Given the description of an element on the screen output the (x, y) to click on. 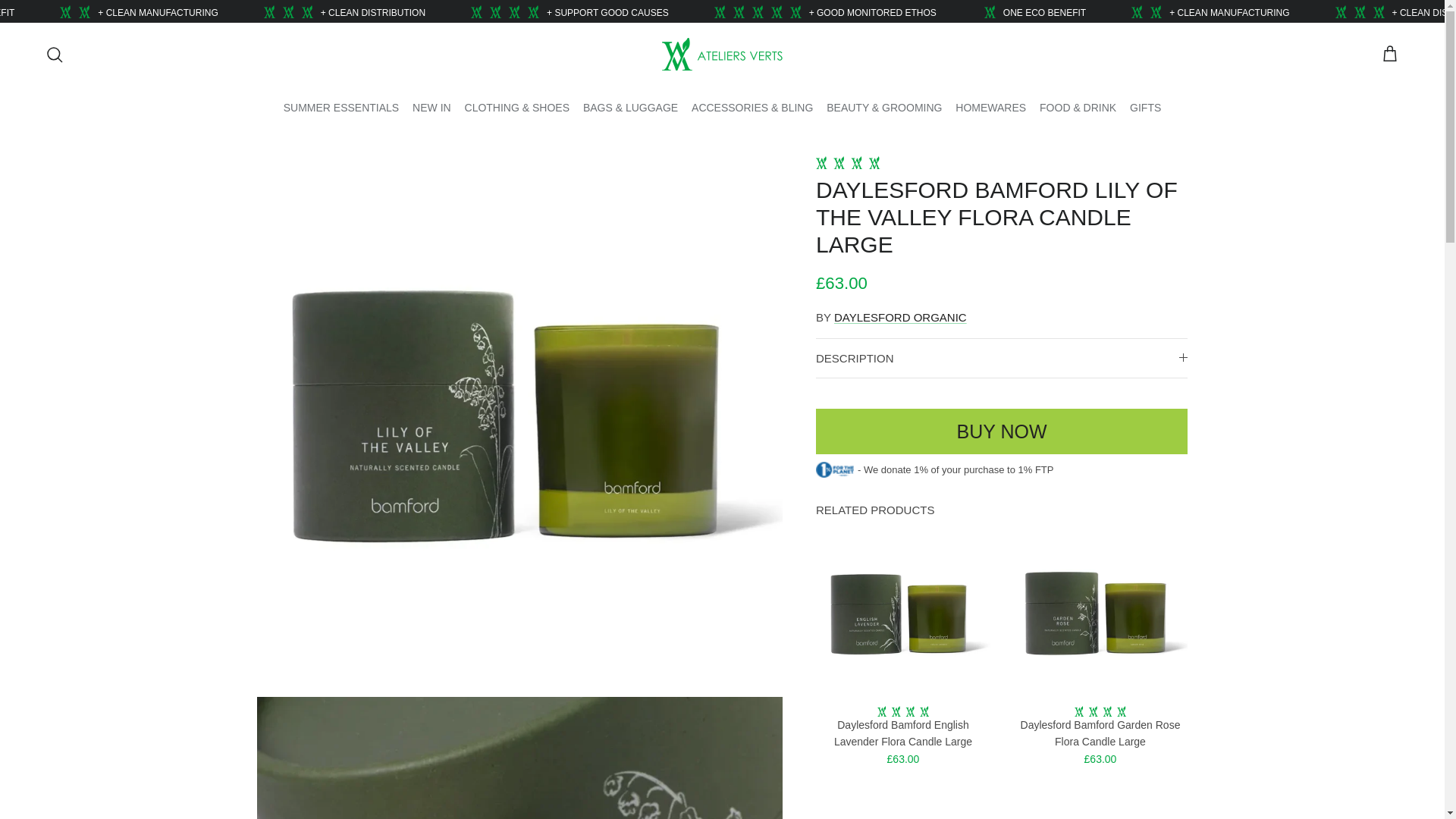
ONE ECO BENEFIT (91, 12)
ONE ECO BENEFIT (1140, 12)
Daylesford Bamford Lily of the Valley Flora Candle Large (1001, 431)
Ateliers Verts (722, 53)
